Given the description of an element on the screen output the (x, y) to click on. 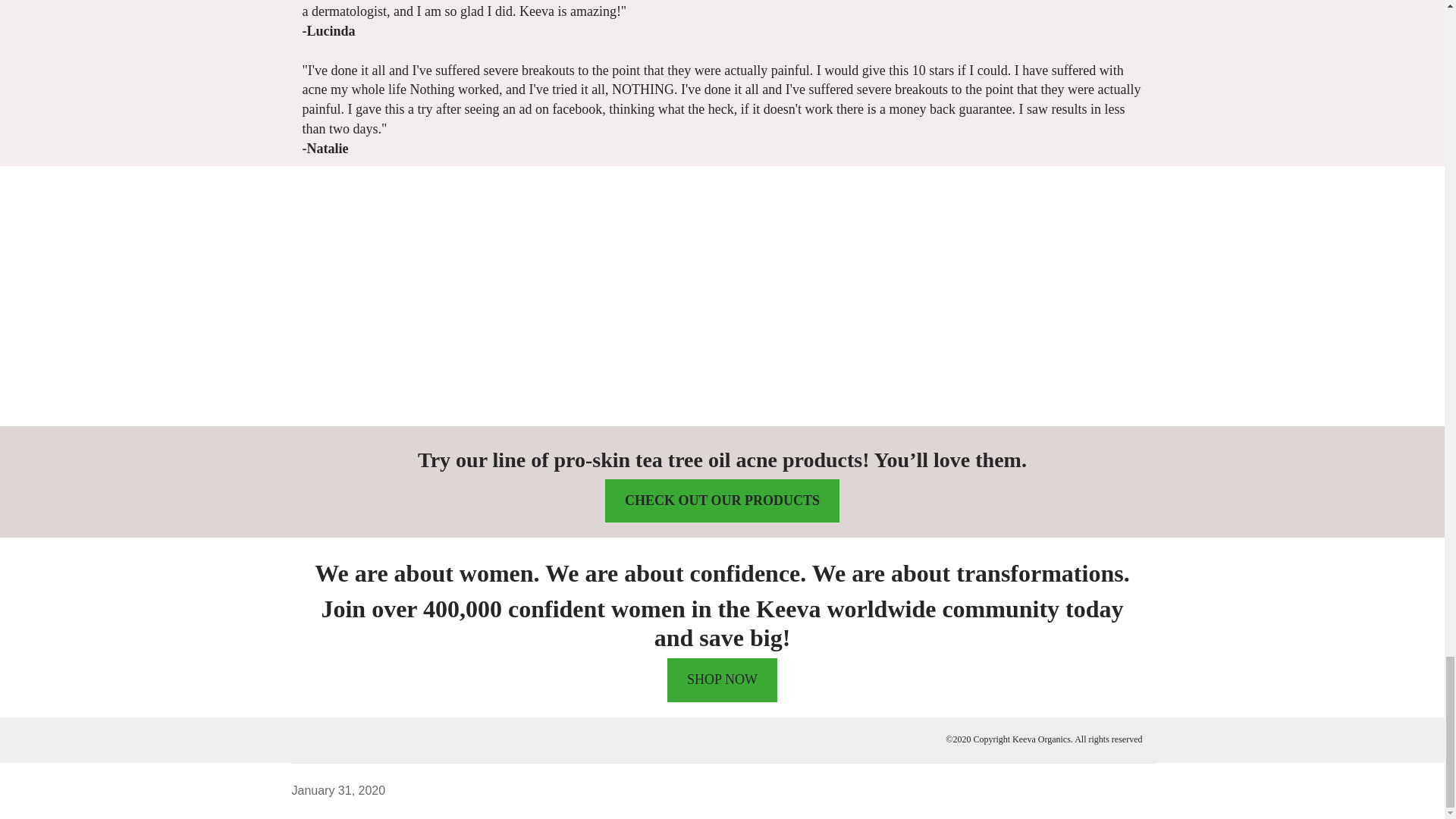
CHECK OUT OUR PRODUCTS (722, 501)
SHOP NOW (721, 679)
